Given the description of an element on the screen output the (x, y) to click on. 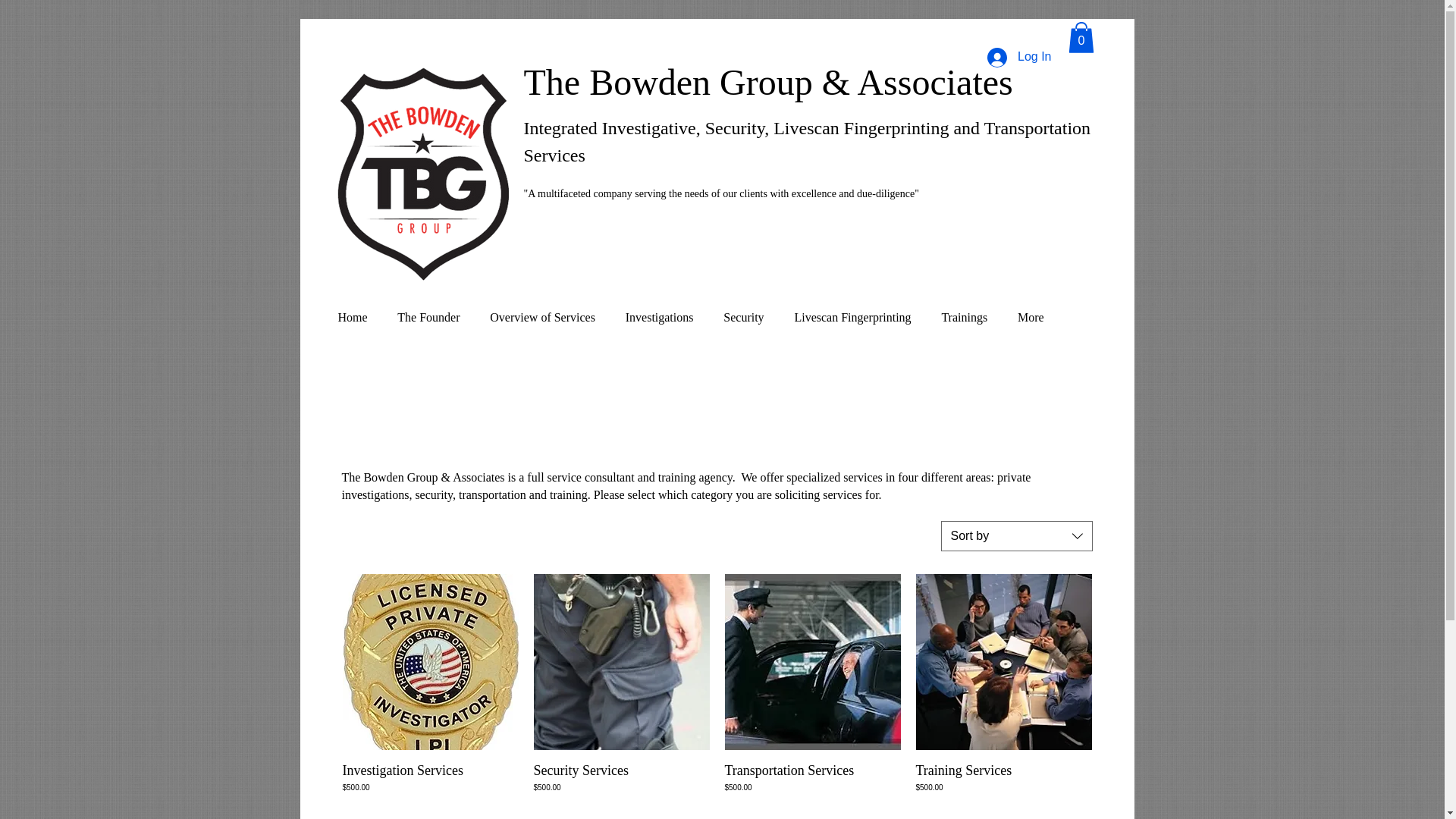
Security (742, 317)
Home (352, 317)
Log In (1018, 57)
Trainings (964, 317)
Overview of Services (542, 317)
Investigations (659, 317)
More (1030, 317)
The Founder (427, 317)
Sort by (1016, 535)
Livescan Fingerprinting (852, 317)
